Given the description of an element on the screen output the (x, y) to click on. 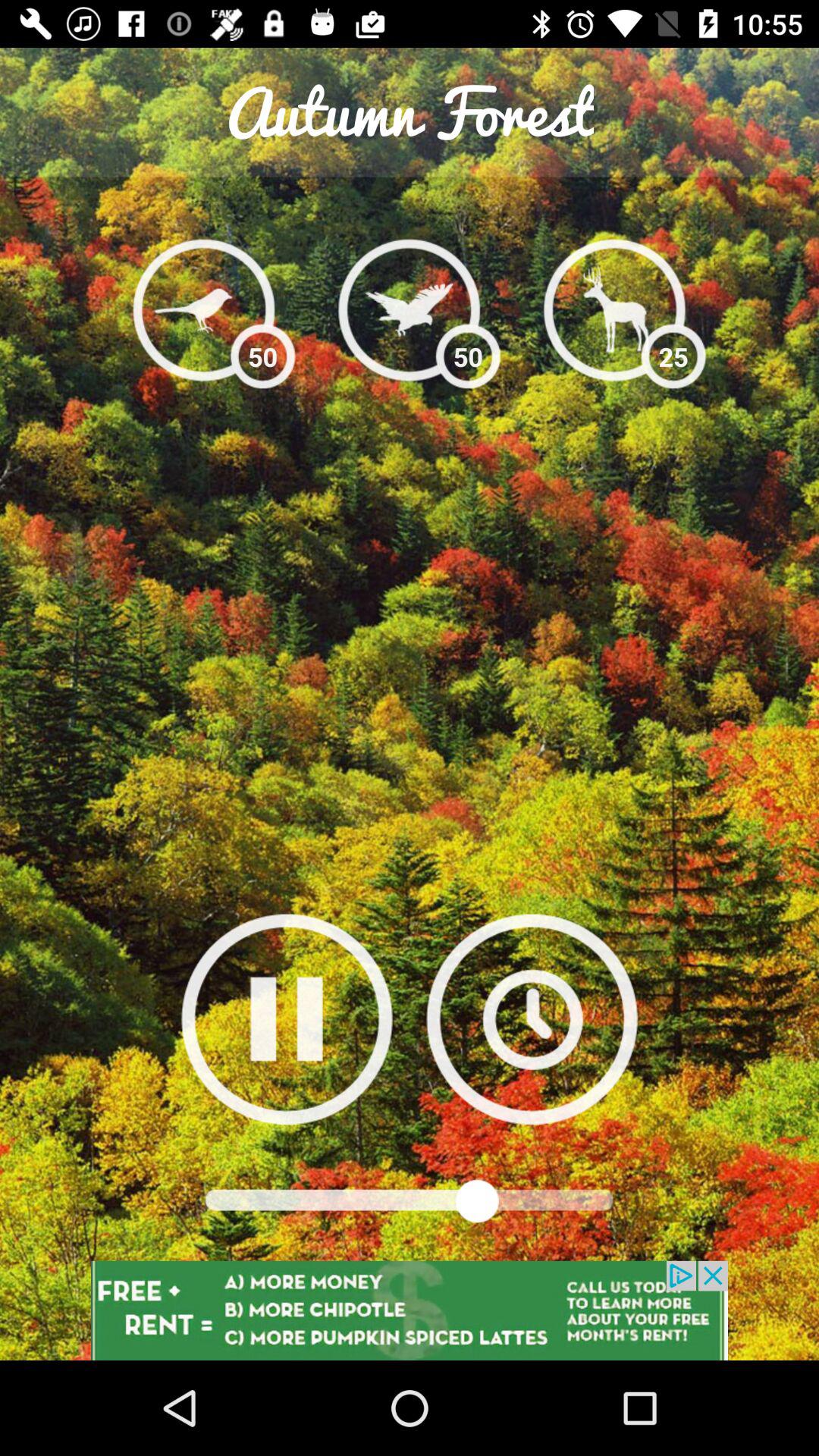
pause sounds (286, 1018)
